Given the description of an element on the screen output the (x, y) to click on. 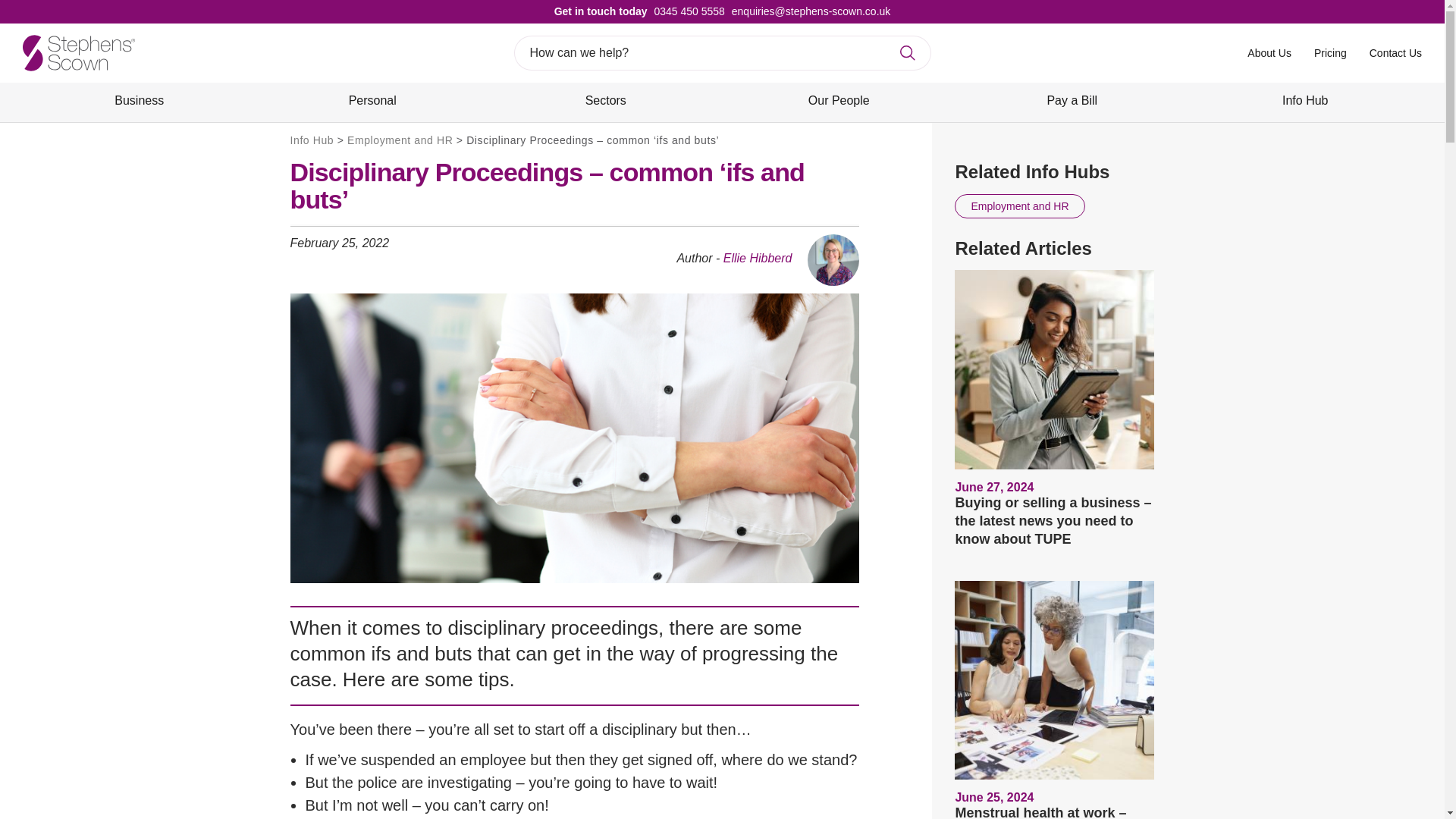
Go to the Info Hub Info hub Category archives. (311, 140)
0345 450 5558 (686, 10)
Posts by Ellie Hibberd (757, 257)
Contact Us (1396, 52)
Go to the Employment and HR Info hub Category archives. (399, 140)
Pricing (1330, 52)
About Us (1269, 52)
